Given the description of an element on the screen output the (x, y) to click on. 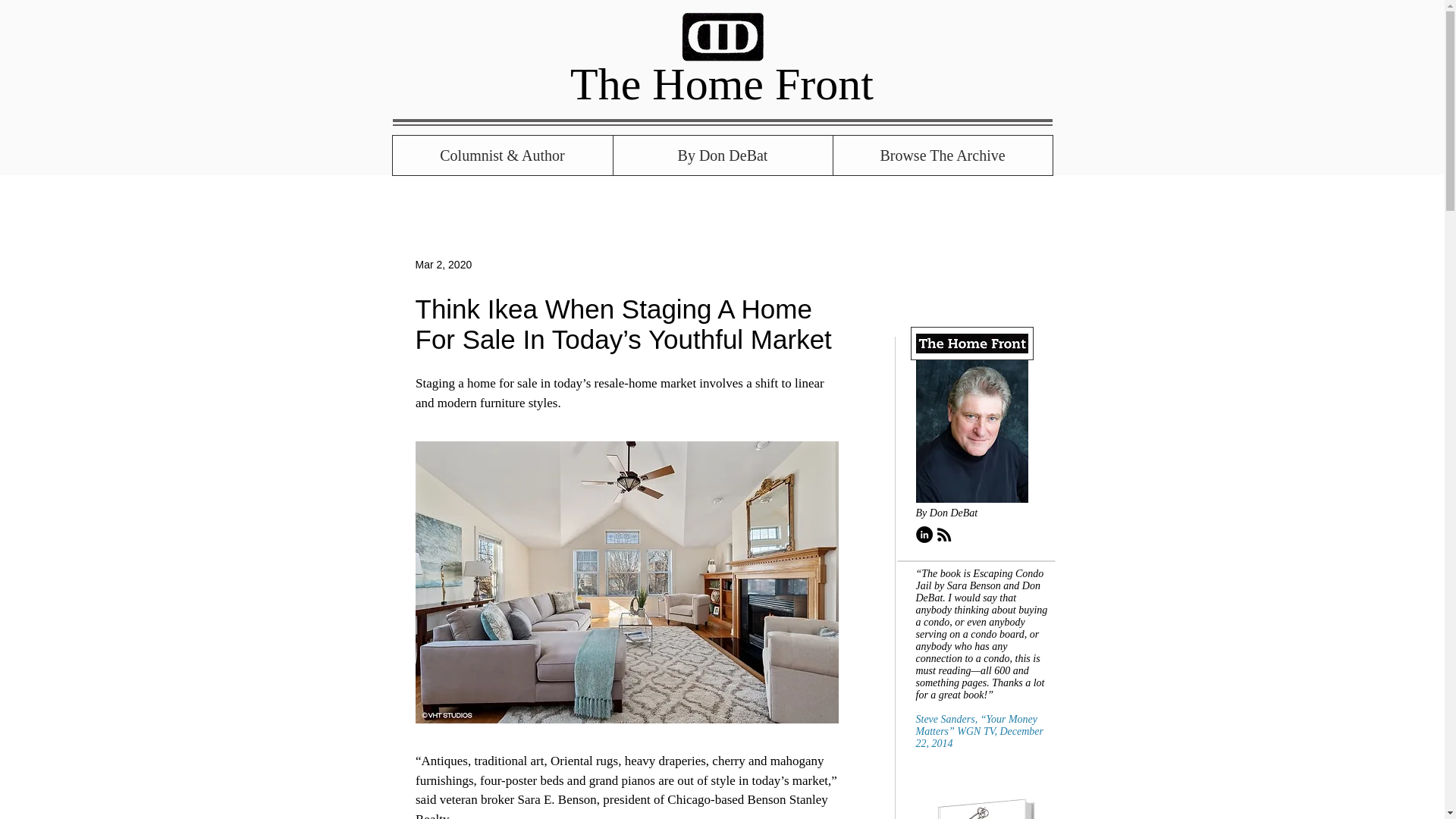
By Don DeBat (722, 155)
Don DeBat's RSS Feed (944, 534)
Mar 2, 2020 (442, 263)
Browse The Archive (942, 155)
